Given the description of an element on the screen output the (x, y) to click on. 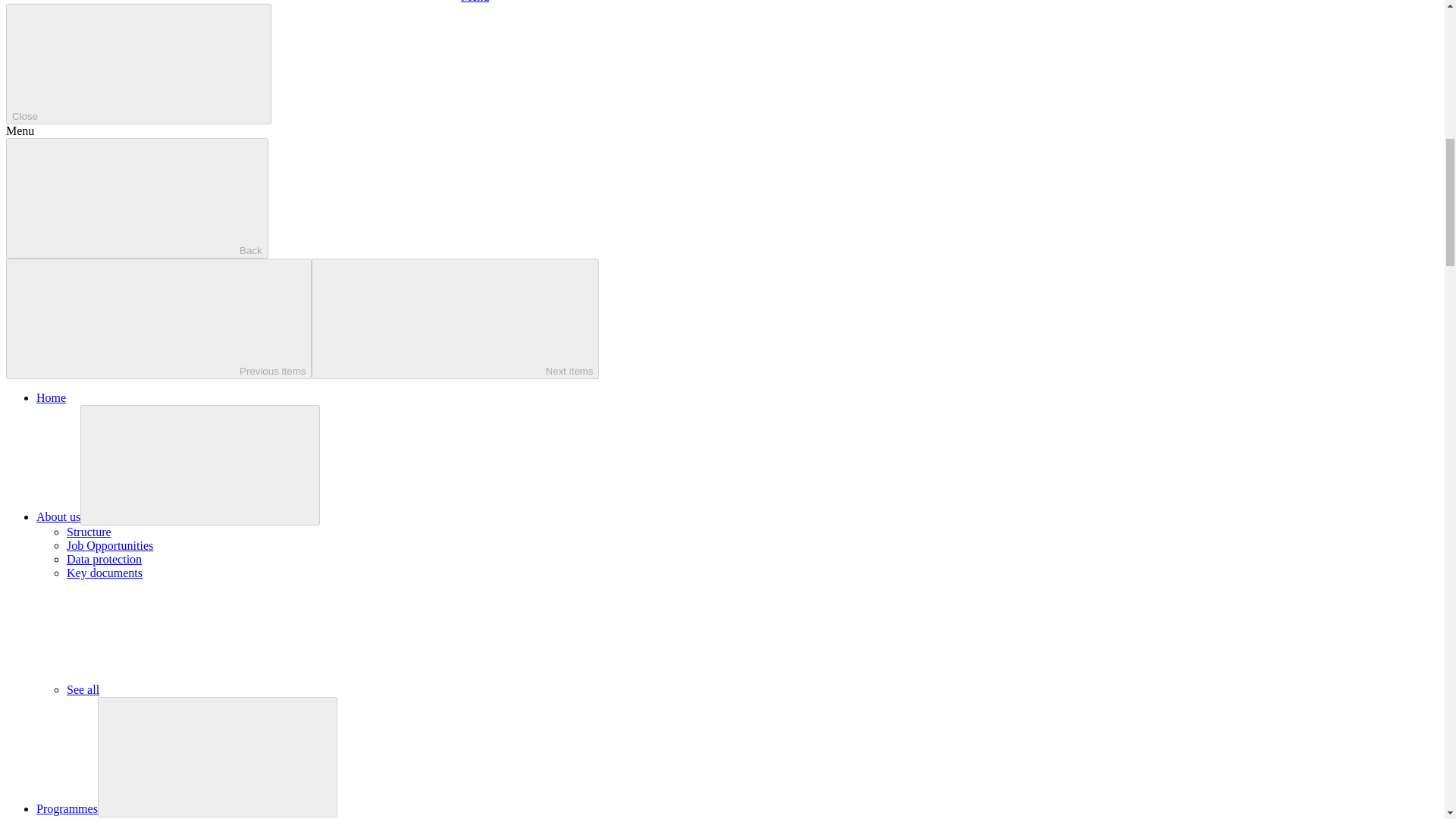
CEF (77, 818)
See all (196, 689)
Data protection (103, 558)
Previous items (158, 318)
Close (137, 64)
Structure (89, 531)
Home (50, 397)
Programmes (66, 808)
Key documents (104, 572)
Back (136, 198)
Next items (454, 318)
Job Opportunities (109, 545)
About us (58, 516)
